Given the description of an element on the screen output the (x, y) to click on. 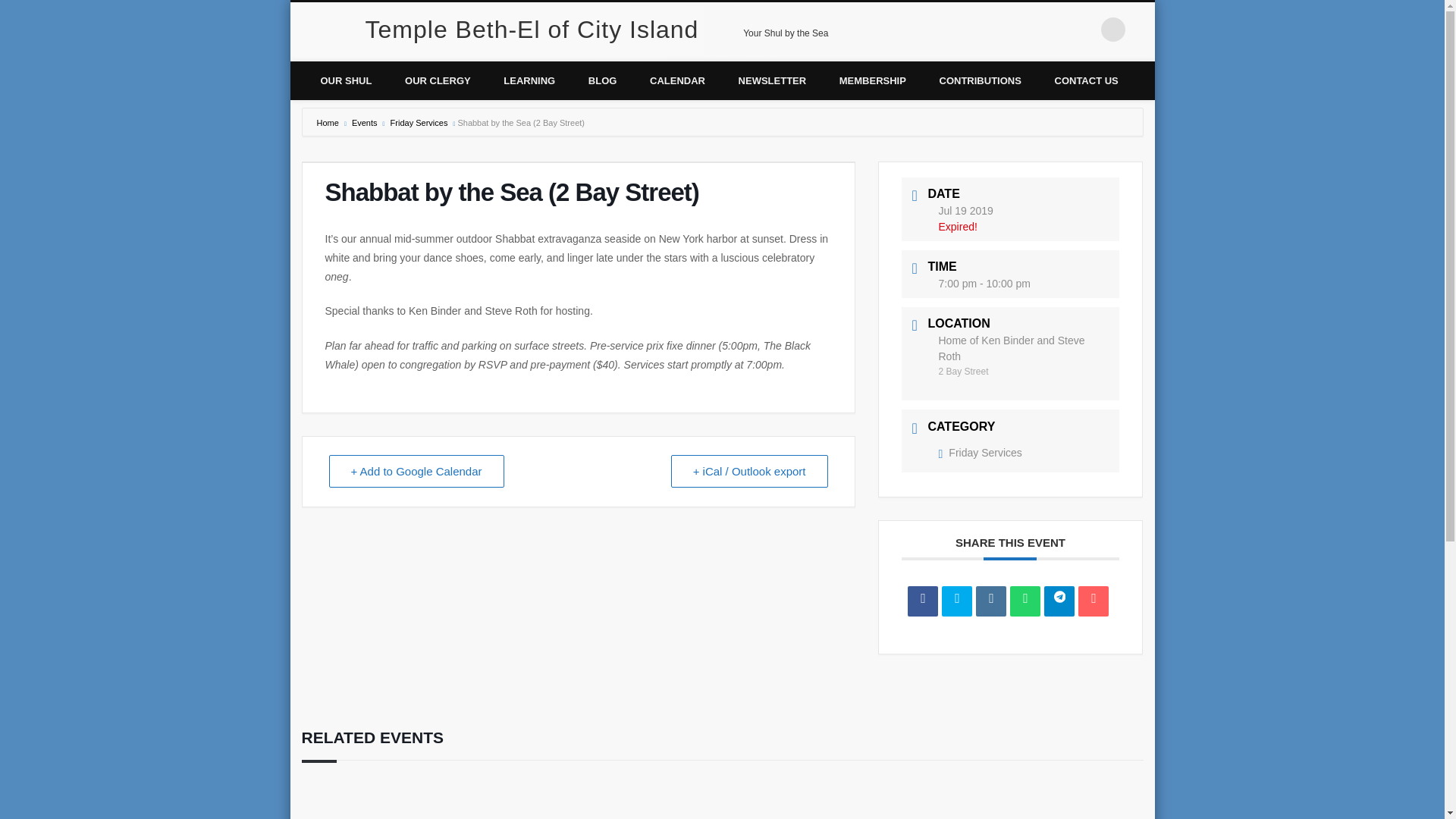
MEMBERSHIP (872, 79)
CONTRIBUTIONS (980, 79)
Linkedin (990, 601)
Share on Facebook (922, 601)
CONTACT US (1085, 79)
BLOG (602, 79)
Email (1093, 601)
Temple Beth-El of City Island (531, 29)
Friday Services (417, 122)
CALENDAR (677, 79)
